Given the description of an element on the screen output the (x, y) to click on. 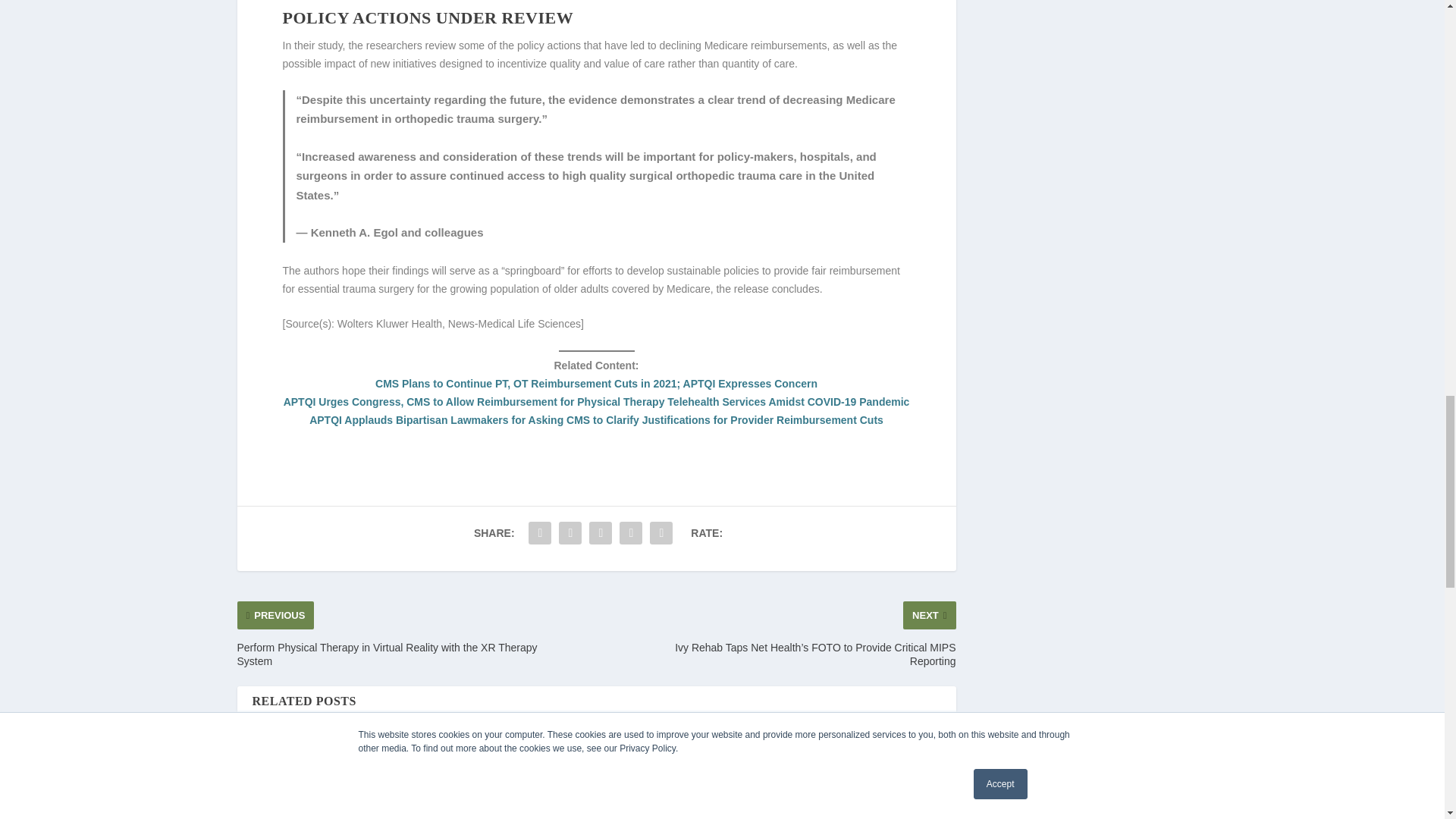
Ivy Rehab Becomes an Aetna Provider in Connecticut (331, 776)
Medicare Manual Provisions Focus of Webinar (508, 776)
